Given the description of an element on the screen output the (x, y) to click on. 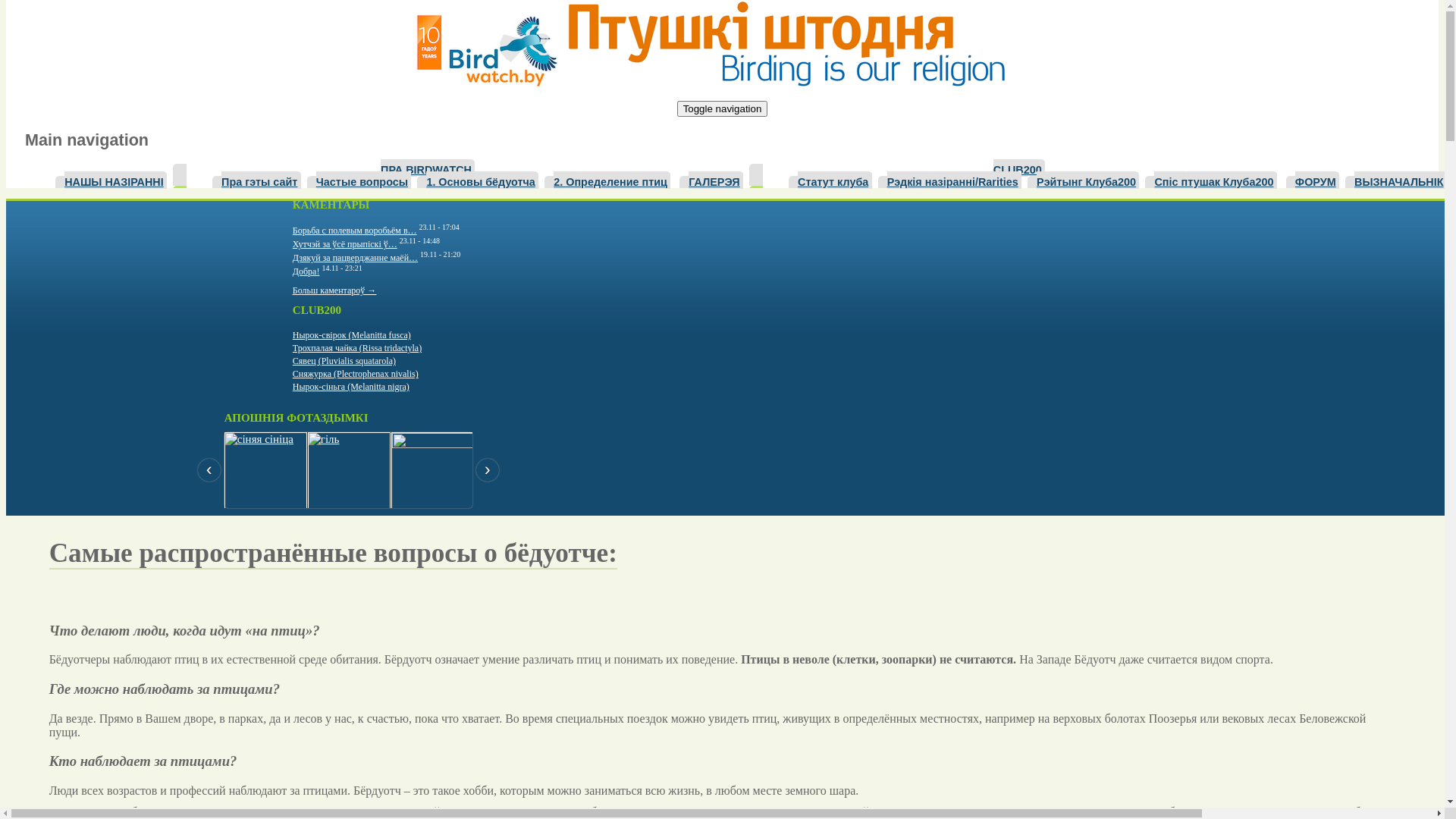
Toggle navigation Element type: text (722, 108)
CLUB200 Element type: text (1018, 167)
